Given the description of an element on the screen output the (x, y) to click on. 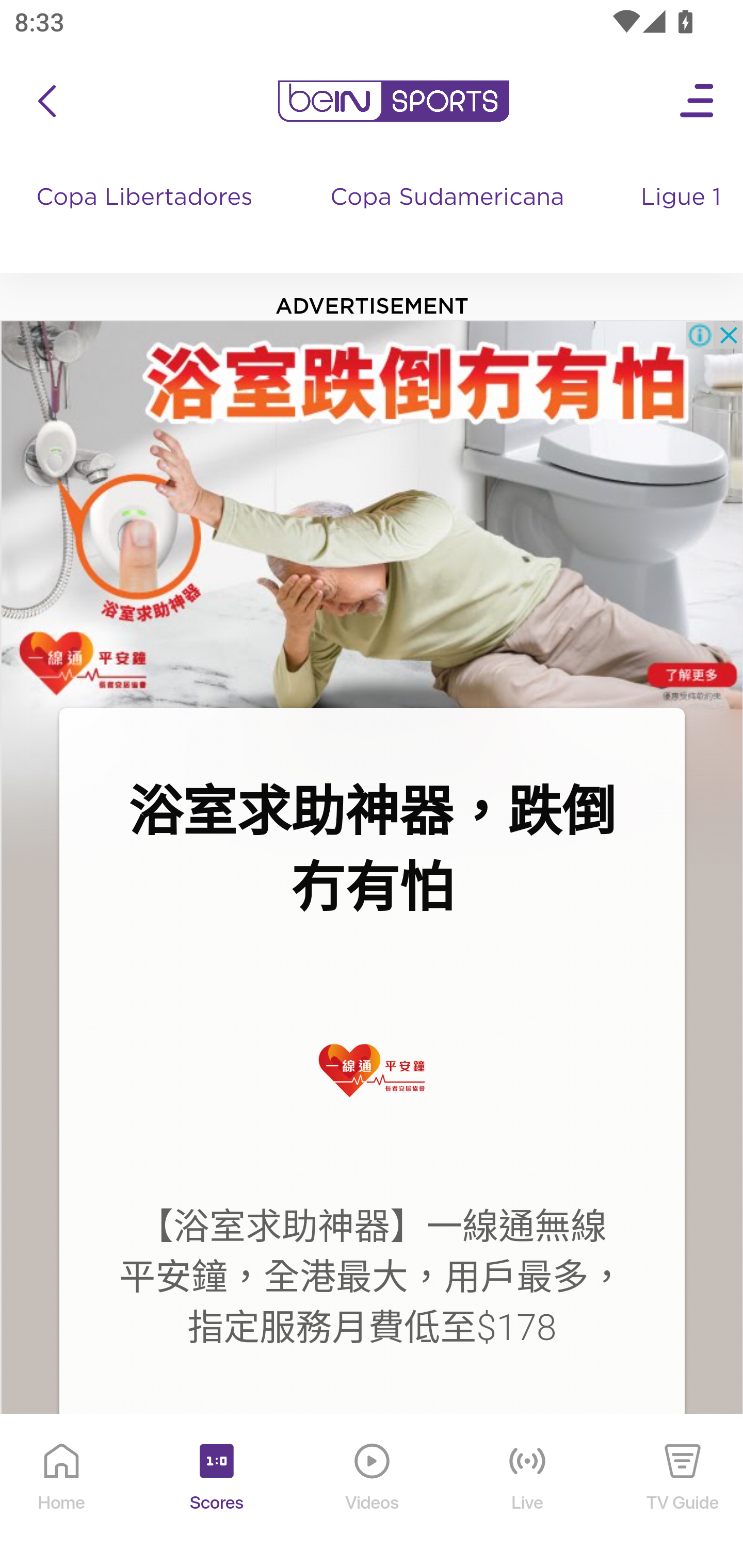
en-us?platform=mobile_android bein logo (392, 101)
icon back (46, 101)
Open Menu Icon (697, 101)
Copa Libertadores (146, 216)
Copa Sudamericana (448, 216)
Ligue 1 (682, 216)
浴室求助神器，跌倒 冇有怕 浴室求助神器，跌倒 冇有怕 (371, 849)
Home Home Icon Home (61, 1491)
Scores Scores Icon Scores (216, 1491)
TV Guide TV Guide Icon TV Guide (682, 1491)
